Given the description of an element on the screen output the (x, y) to click on. 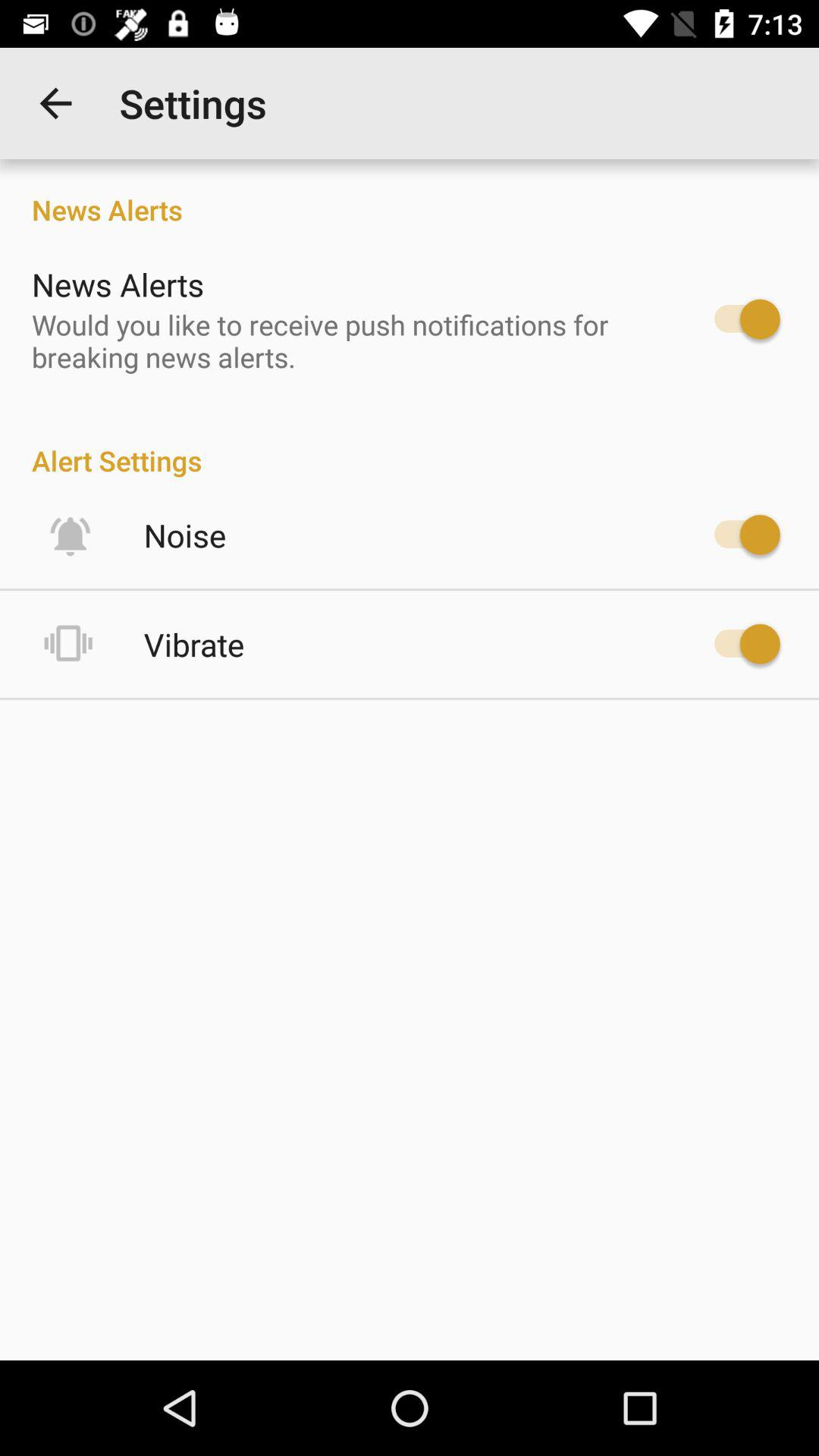
click alert settings icon (409, 444)
